Given the description of an element on the screen output the (x, y) to click on. 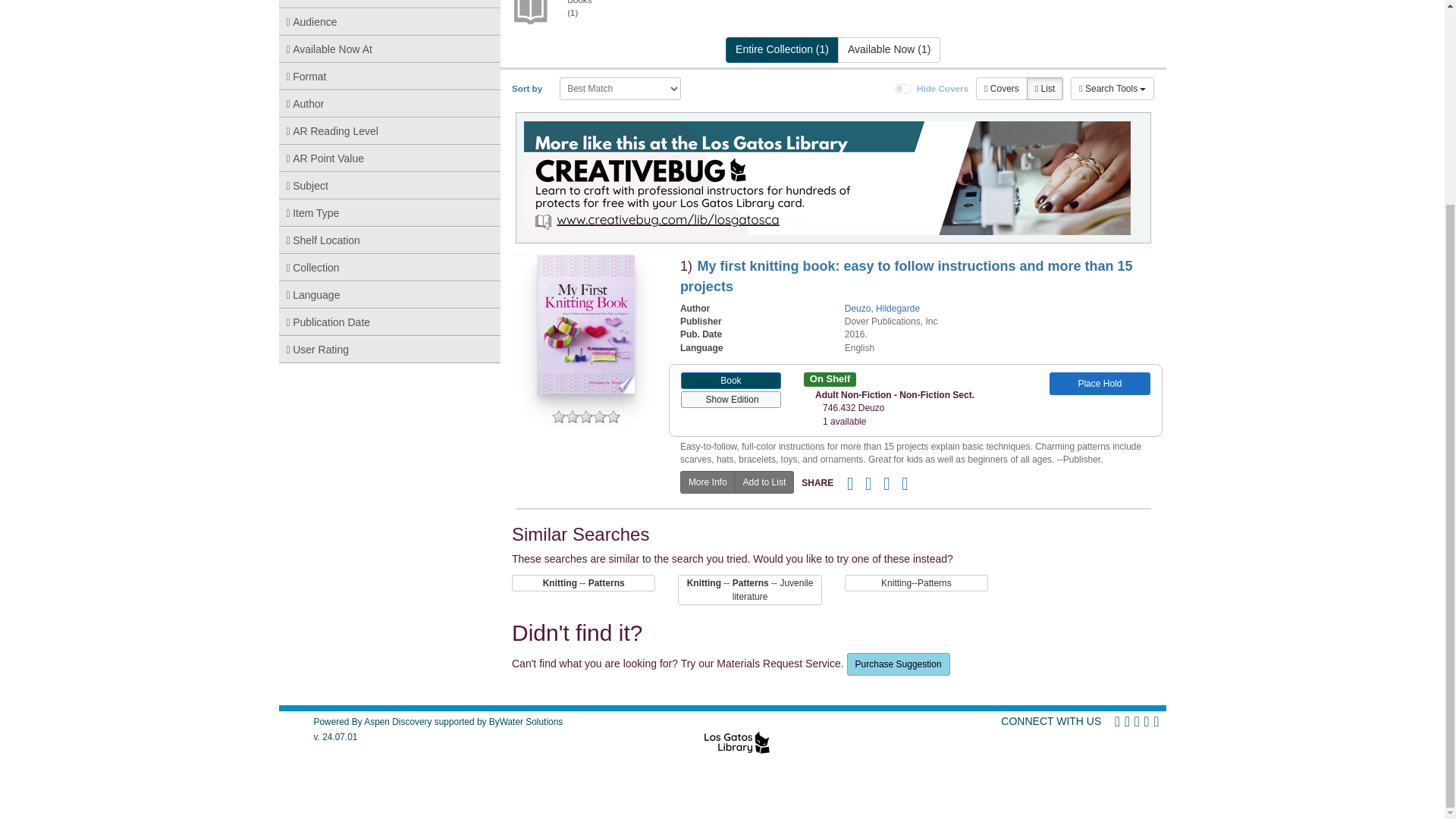
on (903, 88)
